Given the description of an element on the screen output the (x, y) to click on. 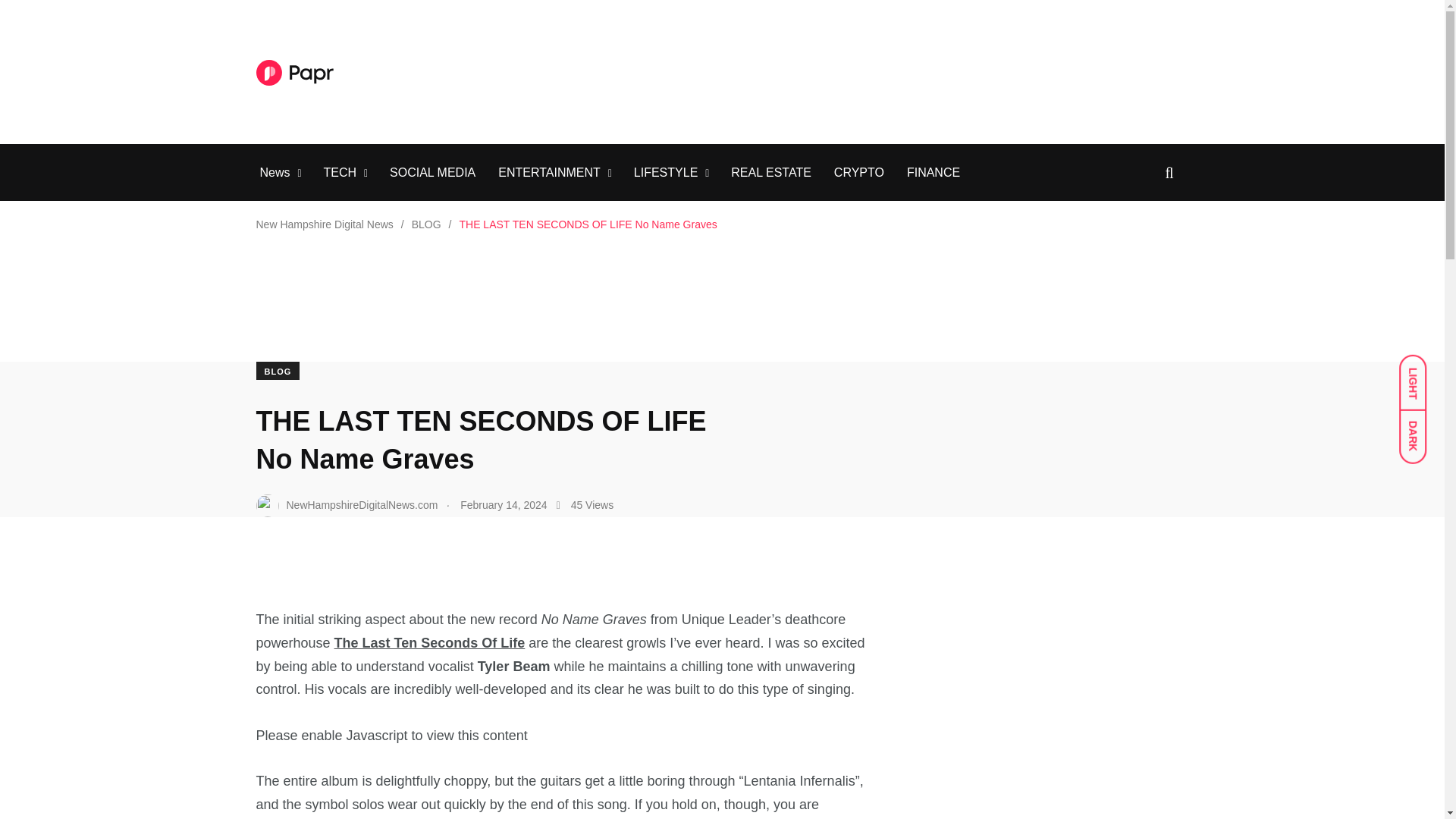
The Last Ten Seconds Of Life (429, 642)
Light Mode (1420, 375)
BLOG (277, 370)
New Hampshire Digital News (324, 224)
FINANCE (933, 172)
Go to New Hampshire Digital News. (324, 224)
NewHampshireDigitalNews.com (347, 505)
SOCIAL MEDIA (433, 172)
REAL ESTATE (770, 172)
ENTERTAINMENT (548, 172)
TECH (339, 172)
LIFESTYLE (665, 172)
CRYPTO (858, 172)
News (274, 172)
Go to the BLOG Category archives. (426, 224)
